Given the description of an element on the screen output the (x, y) to click on. 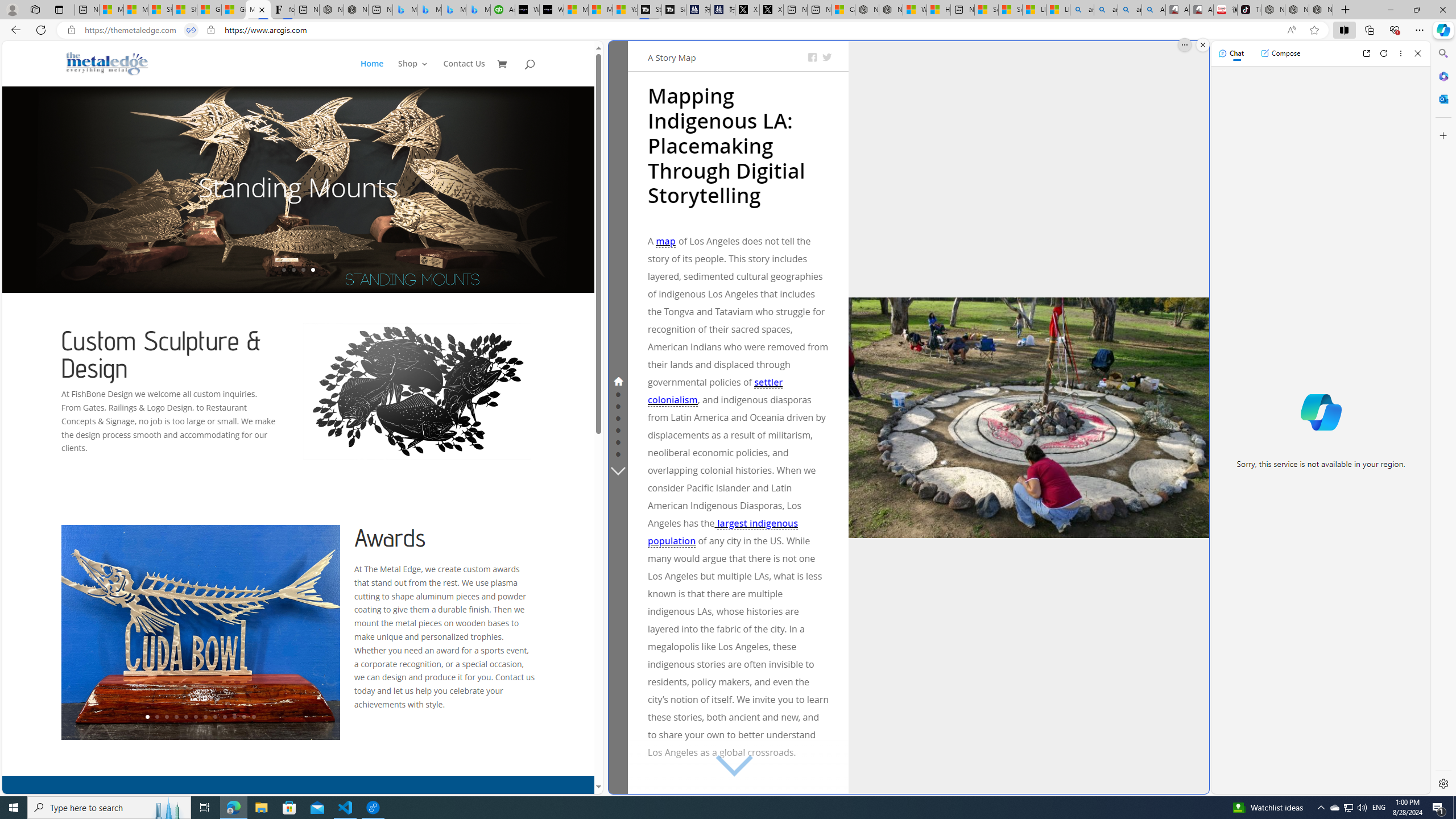
map (665, 241)
Browser essentials (1394, 29)
Nordace - Siena Pro 15 Essential Set (1321, 9)
Nordace Siena Pro 15 Backpack (1296, 9)
Read aloud this page (Ctrl+Shift+U) (1291, 29)
Close tab (261, 9)
7 (205, 716)
Minimize (1390, 9)
5 (185, 716)
What's the best AI voice generator? - voice.ai (551, 9)
Copilot (Ctrl+Shift+.) (1442, 29)
View site information (210, 29)
Workspaces (34, 9)
